Given the description of an element on the screen output the (x, y) to click on. 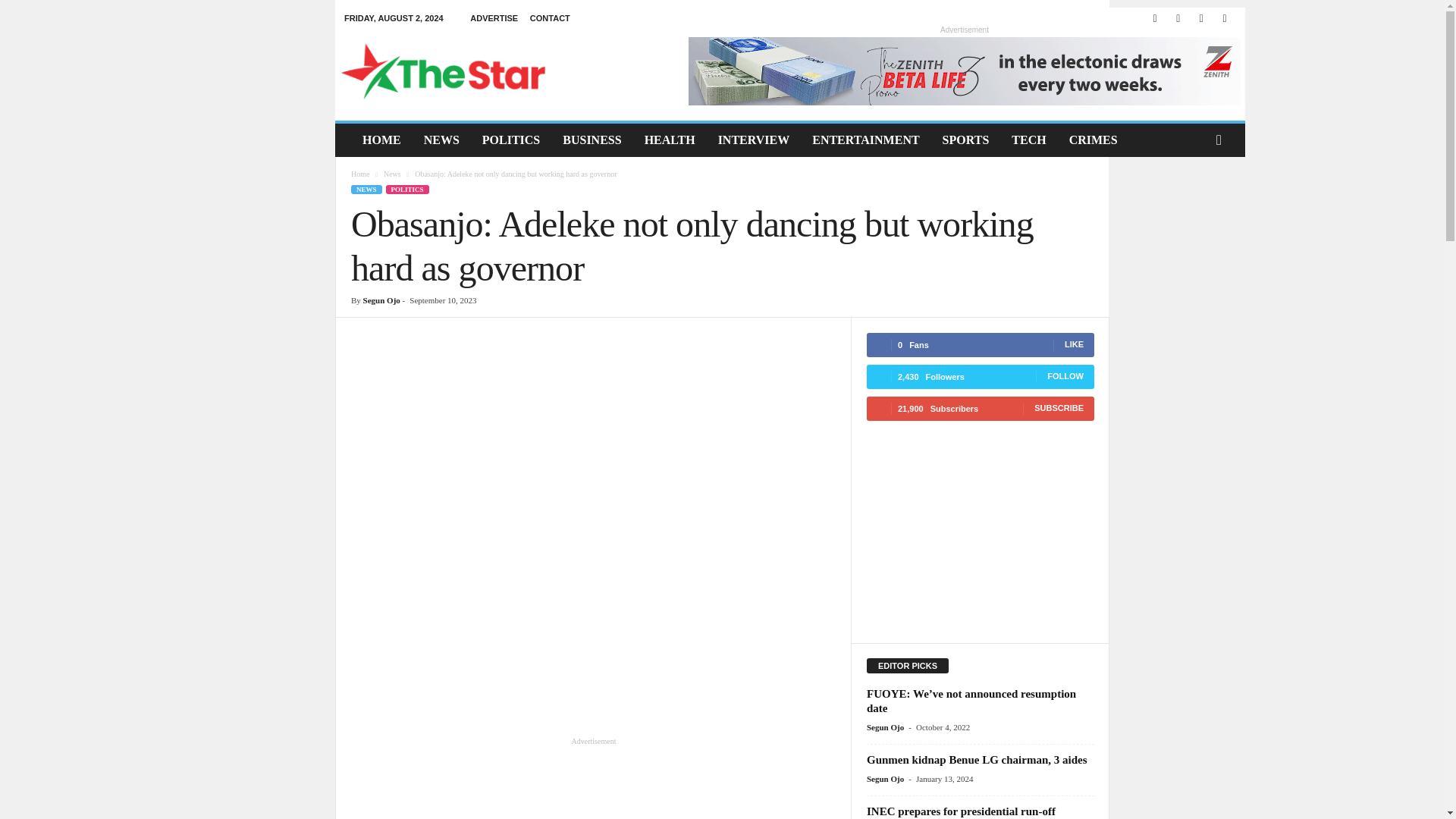
View all posts in News (392, 173)
TheStar (442, 70)
CONTACT (549, 17)
ADVERTISE (494, 17)
